Given the description of an element on the screen output the (x, y) to click on. 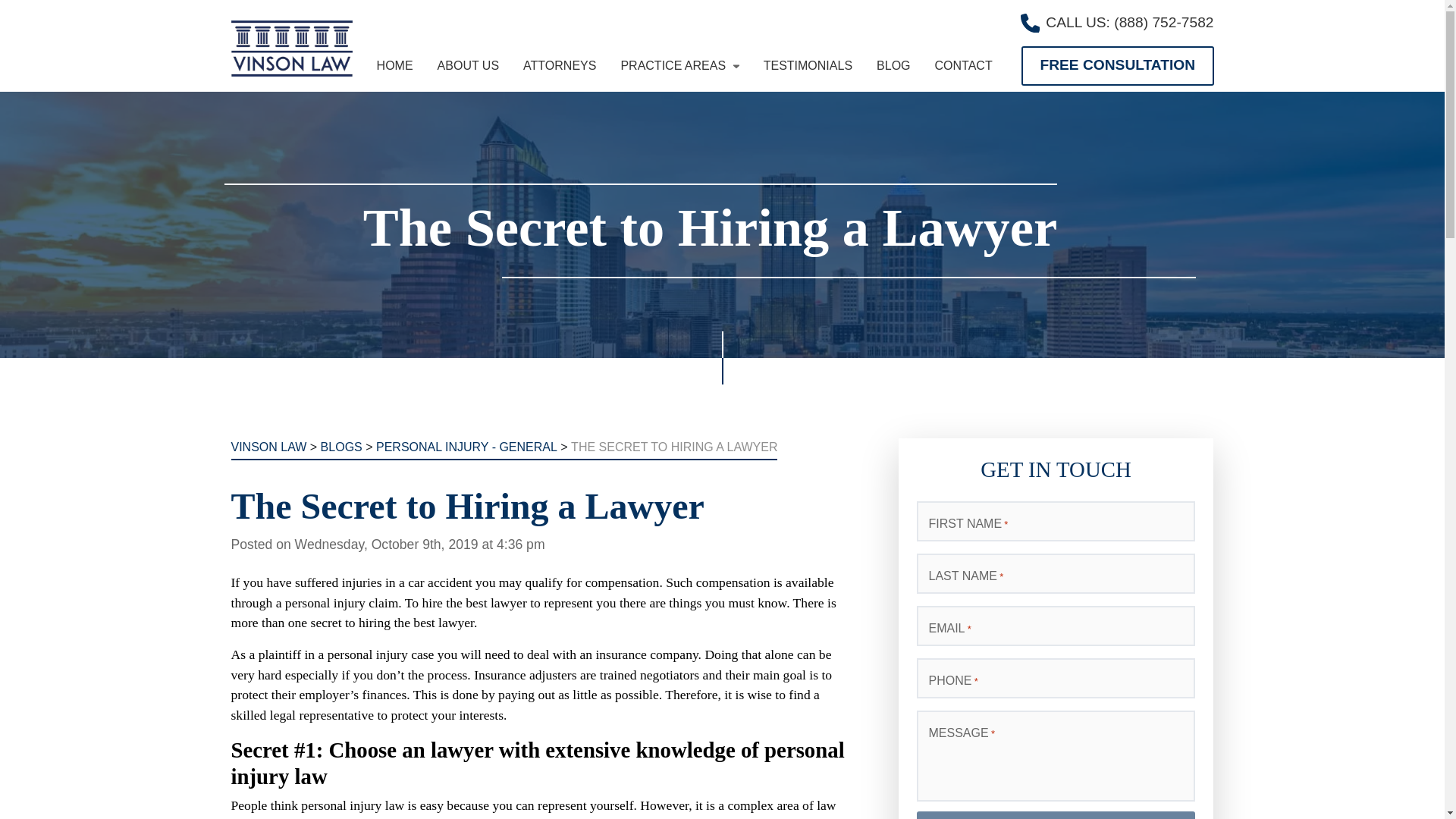
ABOUT US (468, 65)
TESTIMONIALS (806, 65)
CONTACT (963, 65)
Submit (1055, 815)
BLOGS (341, 446)
Go to Vinson Law. (267, 446)
BLOG (893, 65)
Submit (1055, 815)
PRACTICE AREAS (679, 65)
ATTORNEYS (558, 65)
FREE CONSULTATION (1117, 65)
Go to Blogs. (341, 446)
PERSONAL INJURY - GENERAL (466, 446)
Go to the Personal Injury - General Category archives. (466, 446)
HOME (395, 65)
